Given the description of an element on the screen output the (x, y) to click on. 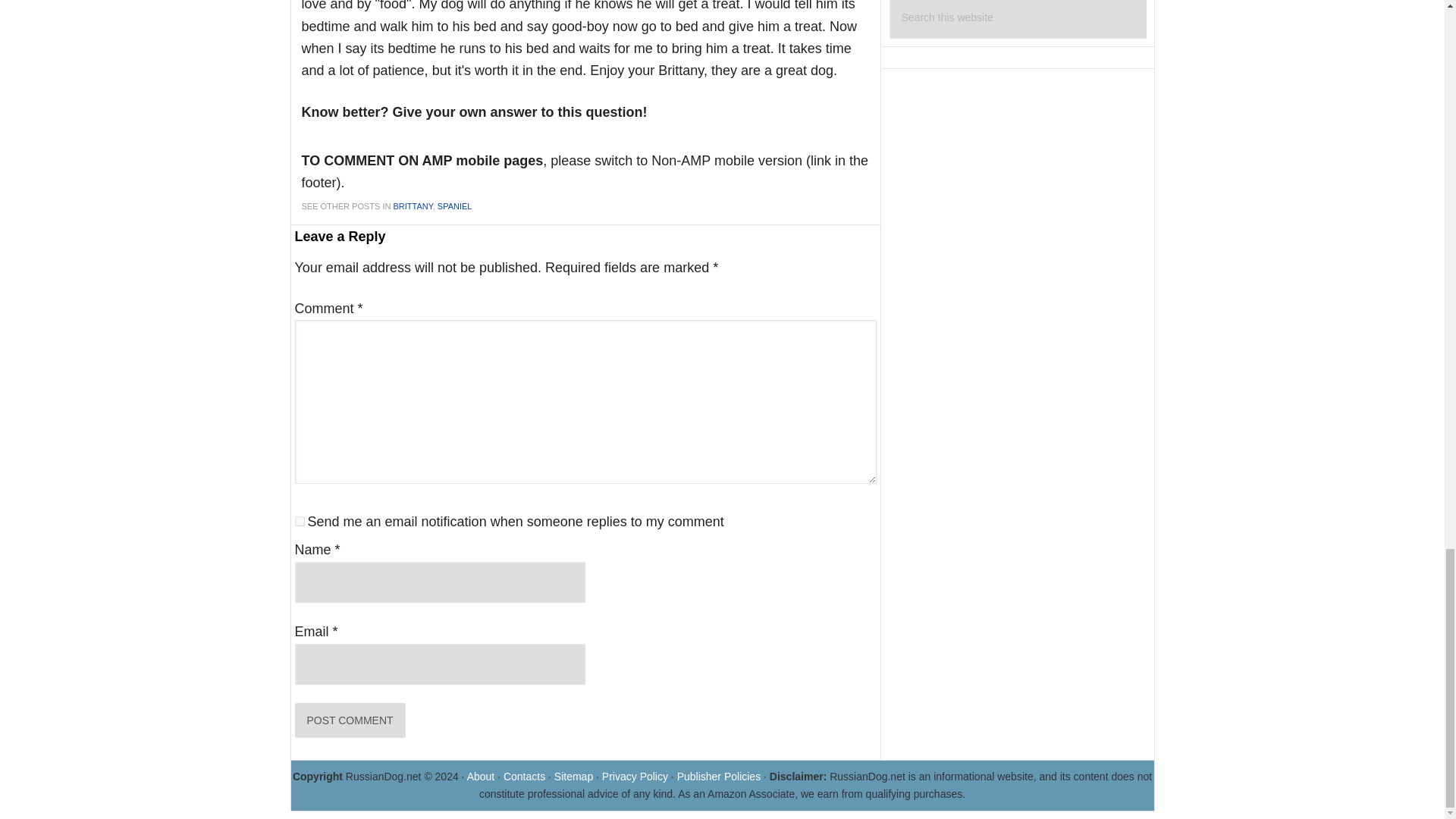
1 (299, 521)
BRITTANY (412, 205)
Post Comment (349, 719)
SPANIEL (454, 205)
Post Comment (349, 719)
